Given the description of an element on the screen output the (x, y) to click on. 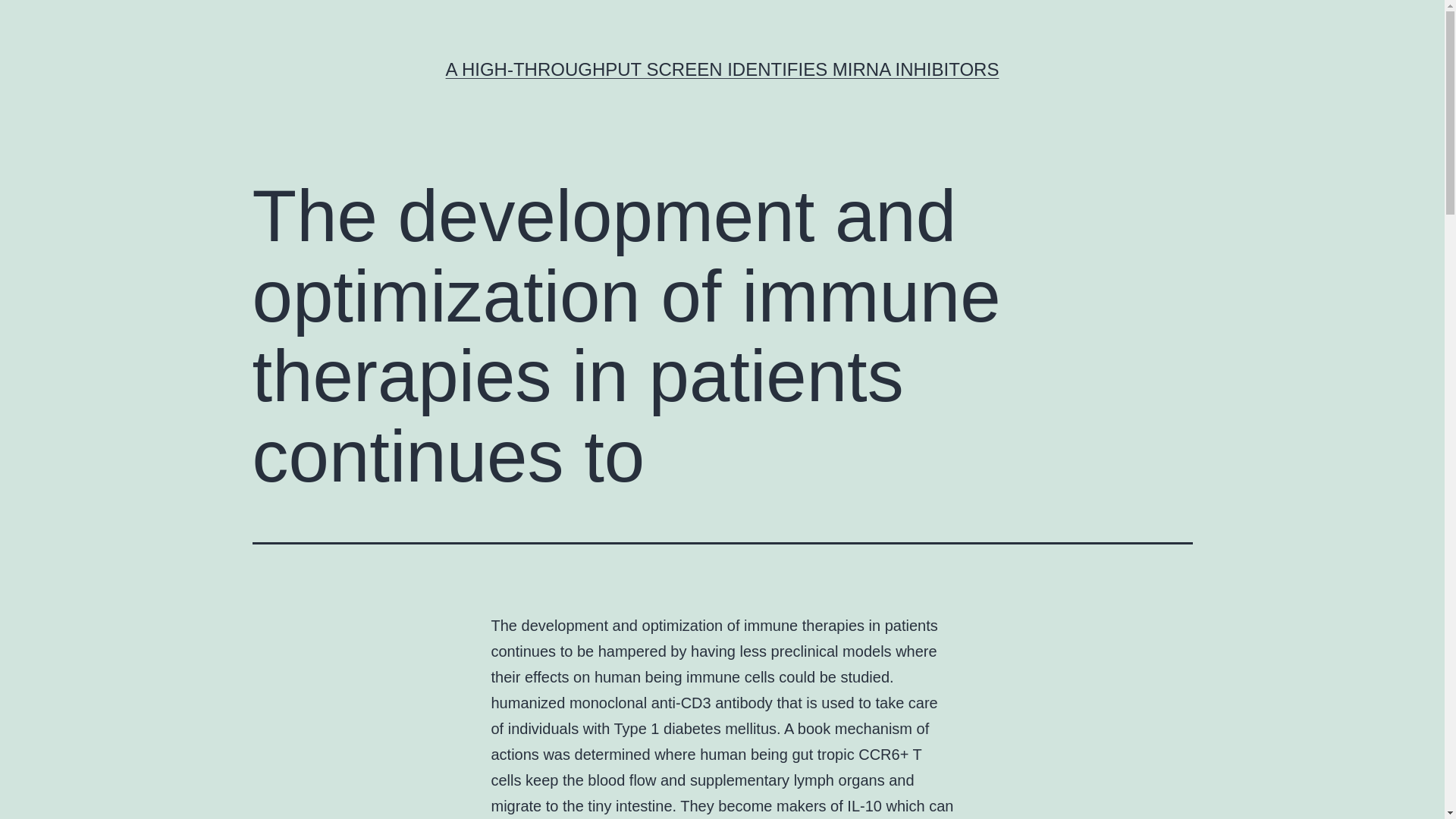
A HIGH-THROUGHPUT SCREEN IDENTIFIES MIRNA INHIBITORS (721, 68)
